Given the description of an element on the screen output the (x, y) to click on. 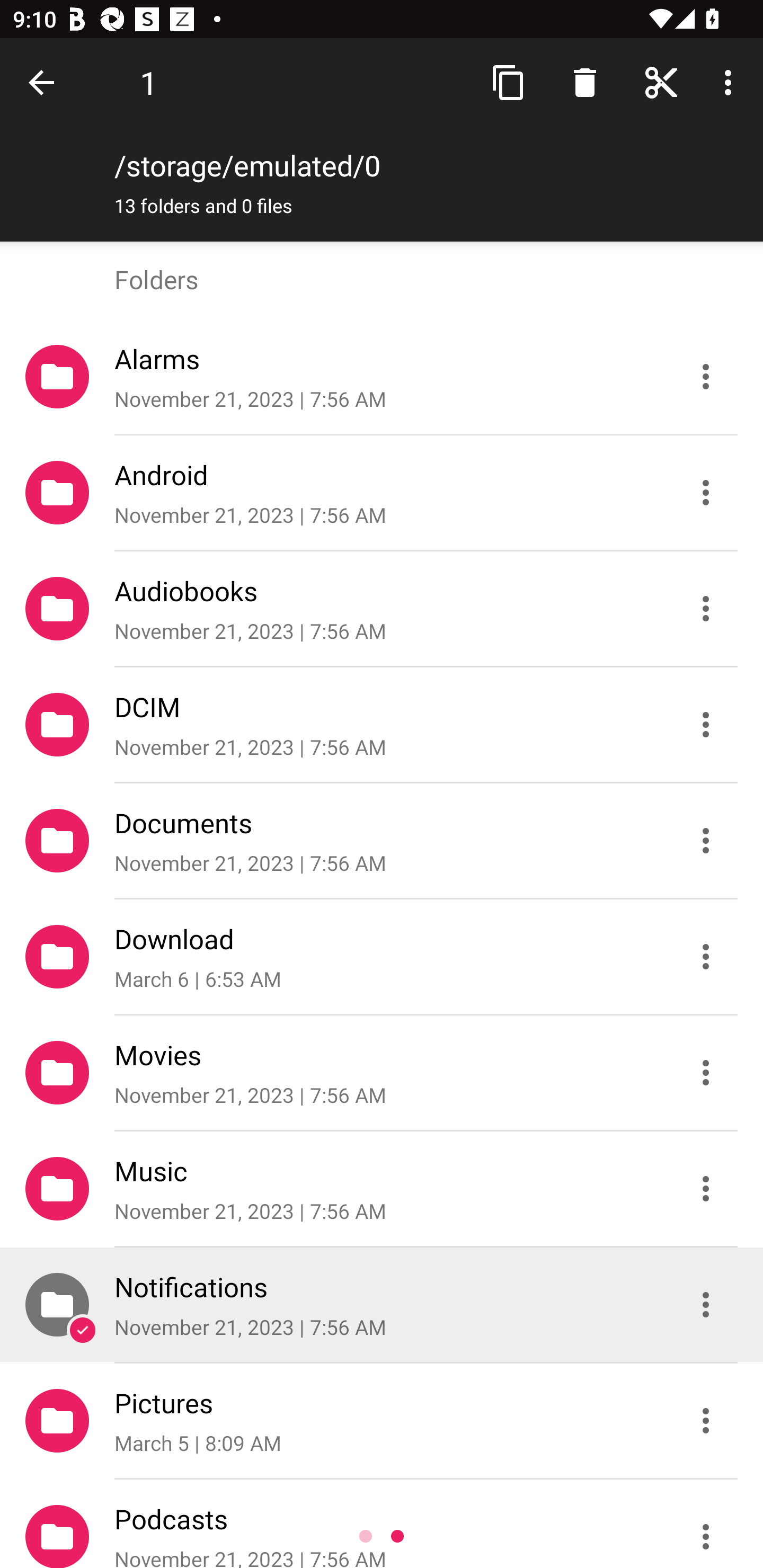
1 (148, 82)
Done (44, 81)
Copy (508, 81)
Search (585, 81)
Home (661, 81)
More options (731, 81)
Alarms November 21, 2023 | 7:56 AM (381, 376)
Android November 21, 2023 | 7:56 AM (381, 492)
Audiobooks November 21, 2023 | 7:56 AM (381, 608)
DCIM November 21, 2023 | 7:56 AM (381, 724)
Documents November 21, 2023 | 7:56 AM (381, 841)
Download March 6 | 6:53 AM (381, 957)
Movies November 21, 2023 | 7:56 AM (381, 1073)
Music November 21, 2023 | 7:56 AM (381, 1189)
Notifications November 21, 2023 | 7:56 AM (381, 1305)
Pictures March 5 | 8:09 AM (381, 1421)
Podcasts November 21, 2023 | 7:56 AM (381, 1524)
